Given the description of an element on the screen output the (x, y) to click on. 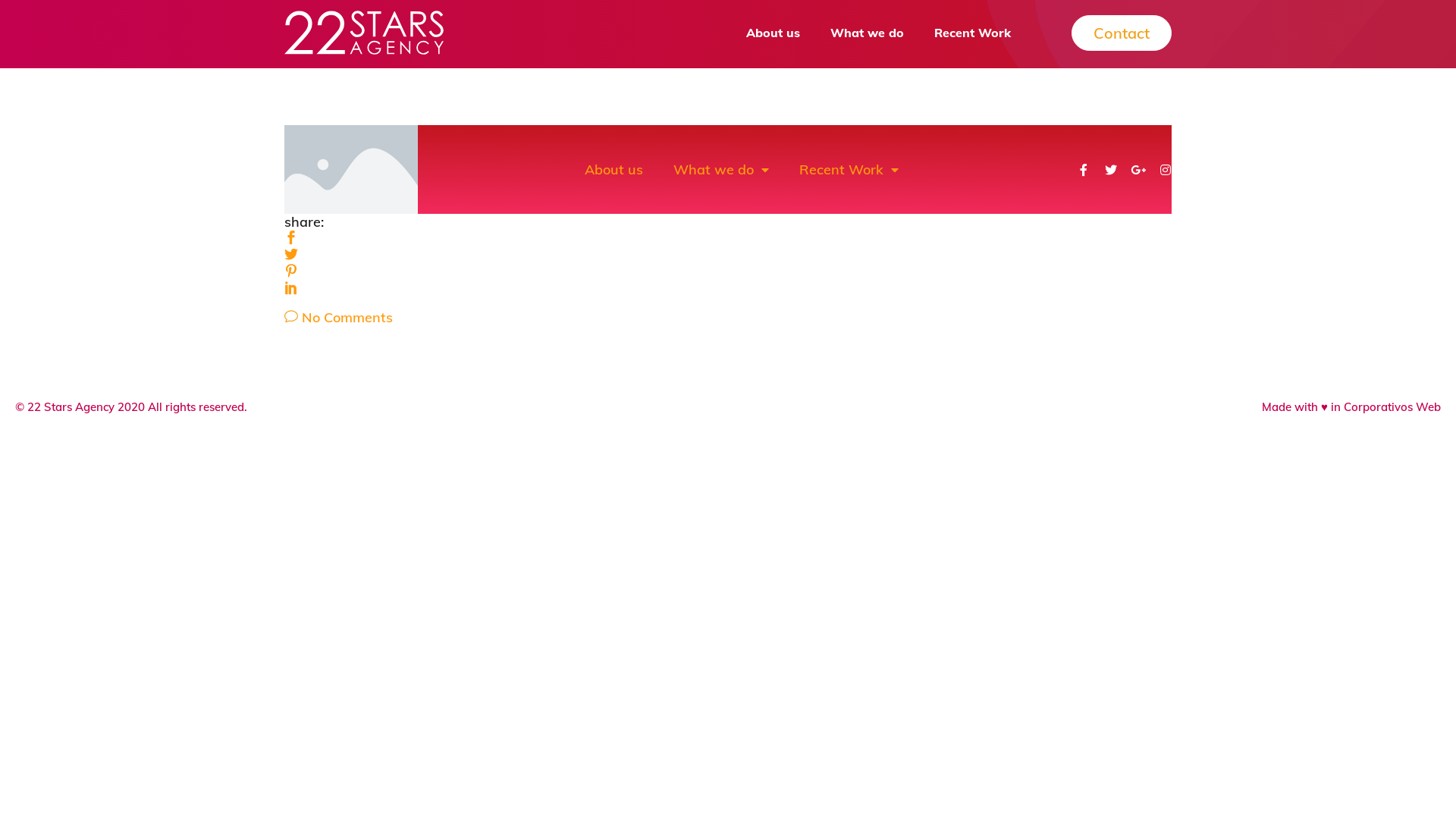
No Comments Element type: text (338, 317)
About us Element type: text (773, 32)
Contact Element type: text (1121, 32)
Recent Work Element type: text (848, 168)
What we do Element type: text (721, 168)
Recent Work Element type: text (972, 32)
What we do Element type: text (866, 32)
Corporativos Web Element type: text (1391, 406)
About us Element type: text (613, 168)
